Given the description of an element on the screen output the (x, y) to click on. 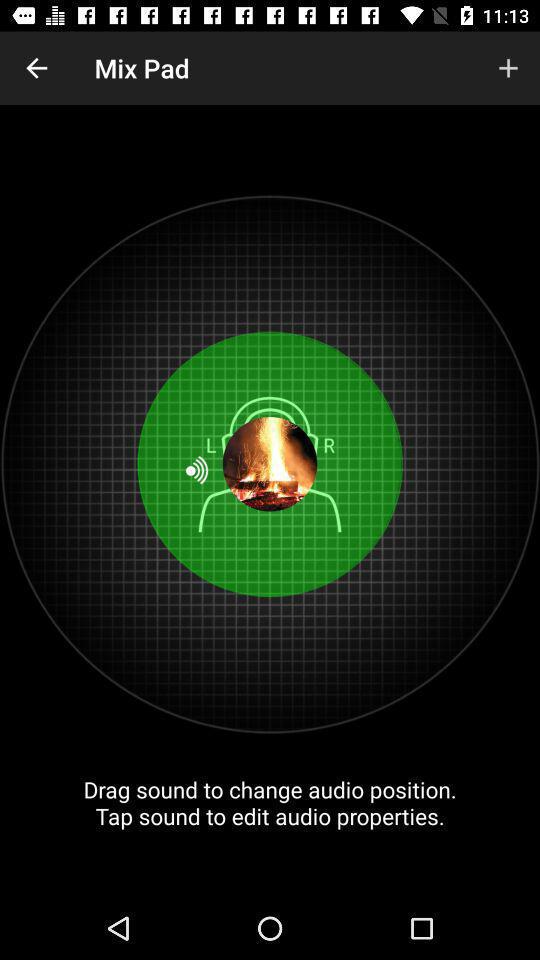
click item to the left of the mix pad icon (36, 68)
